Given the description of an element on the screen output the (x, y) to click on. 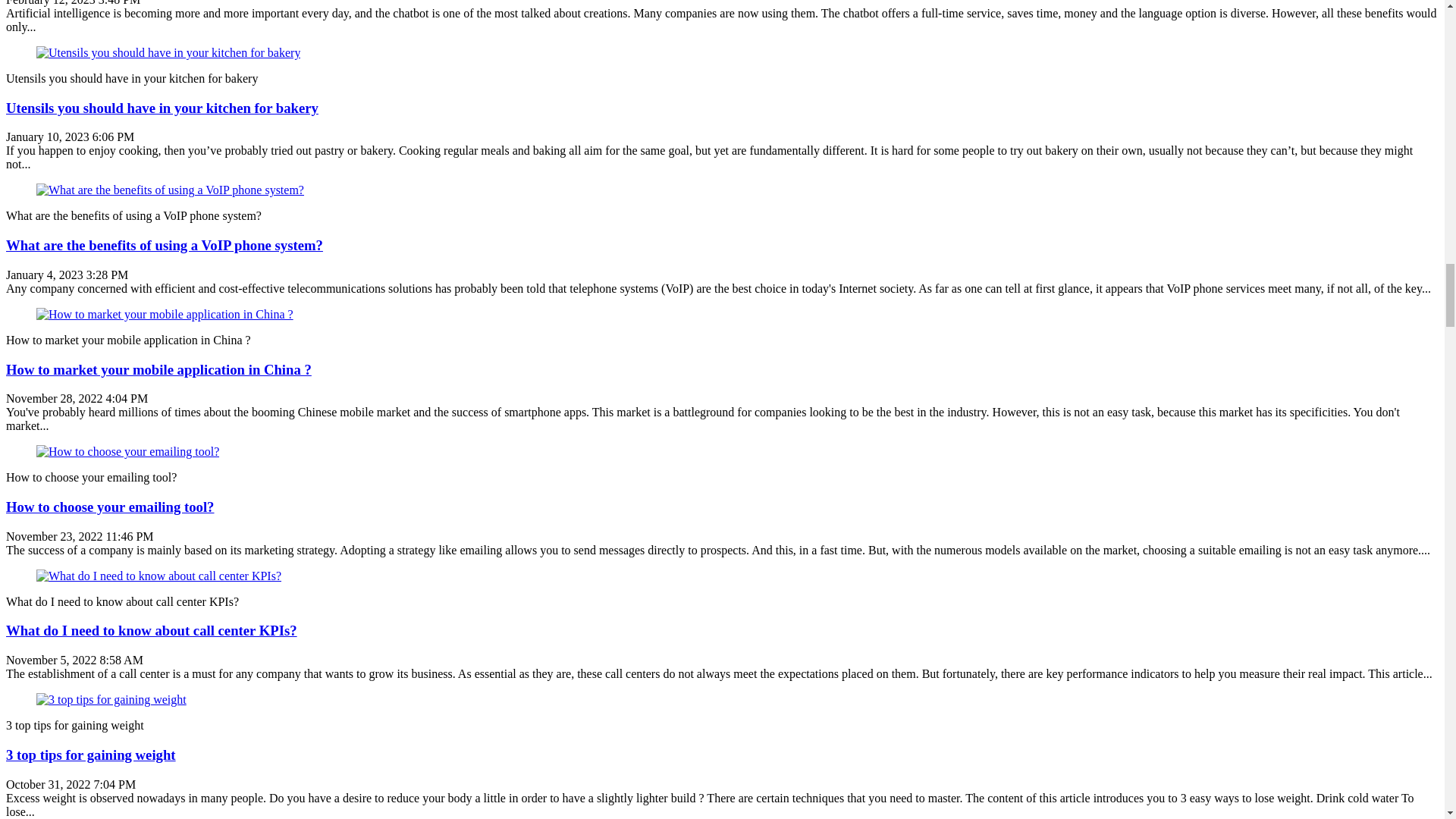
What are the benefits of using a VoIP phone system? (164, 245)
How to market your mobile application in China ? (158, 368)
How to choose your emailing tool? (109, 506)
How to market your mobile application in China ? (165, 314)
How to choose your emailing tool? (109, 506)
What are the benefits of using a VoIP phone system? (170, 189)
3 top tips for gaining weight (90, 754)
What do I need to know about call center KPIs? (151, 630)
Utensils you should have in your kitchen for bakery (161, 107)
Utensils you should have in your kitchen for bakery (167, 51)
Utensils you should have in your kitchen for bakery (161, 107)
What are the benefits of using a VoIP phone system? (164, 245)
How to choose your emailing tool? (127, 451)
What do I need to know about call center KPIs? (158, 575)
How to market your mobile application in China ? (158, 368)
